Given the description of an element on the screen output the (x, y) to click on. 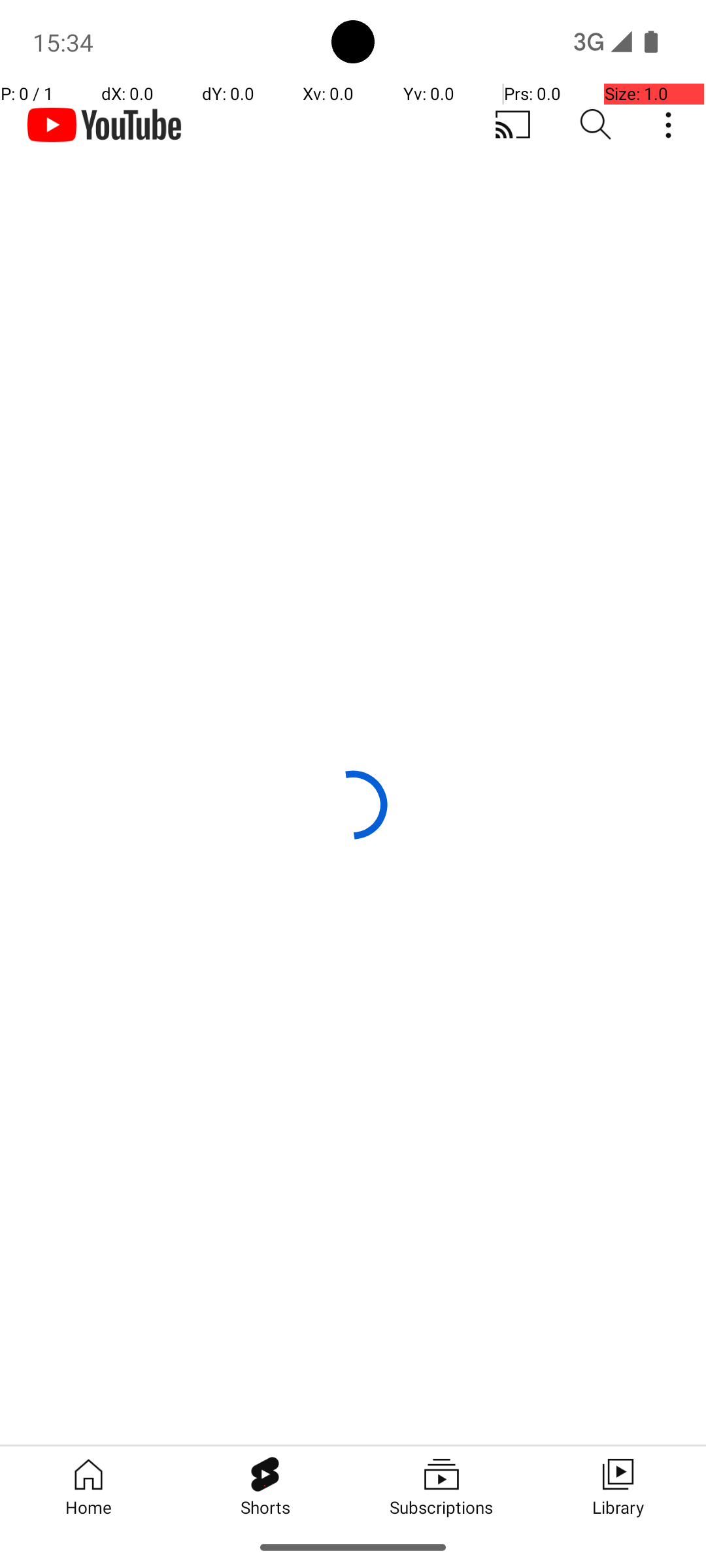
Cast. Disconnected Element type: android.view.View (512, 124)
